Given the description of an element on the screen output the (x, y) to click on. 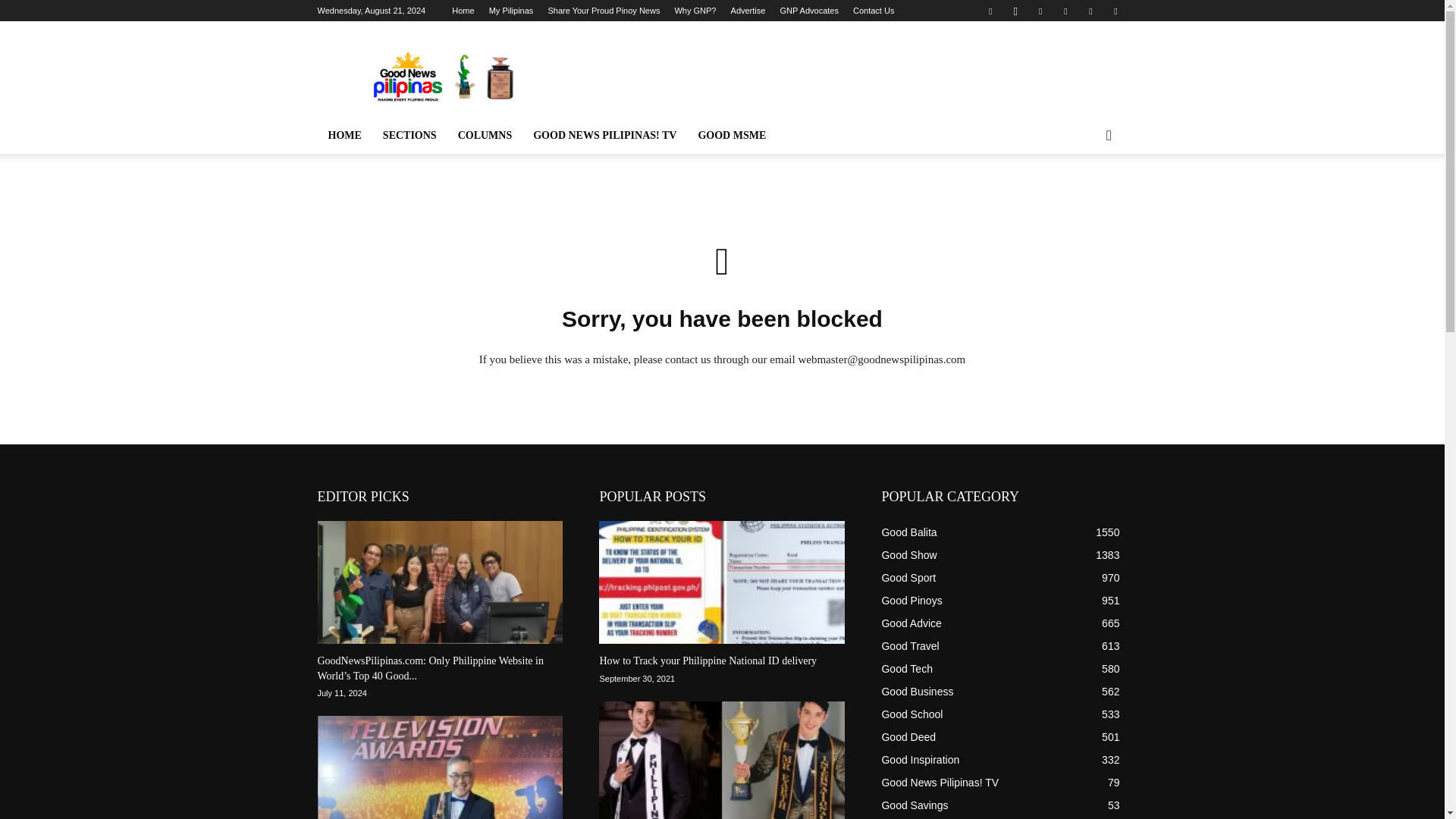
Twitter (1114, 10)
Facebook (989, 10)
Linkedin (1040, 10)
Good News Pilipinas (445, 76)
Mail (1065, 10)
TikTok (1090, 10)
Instagram (1015, 10)
